Given the description of an element on the screen output the (x, y) to click on. 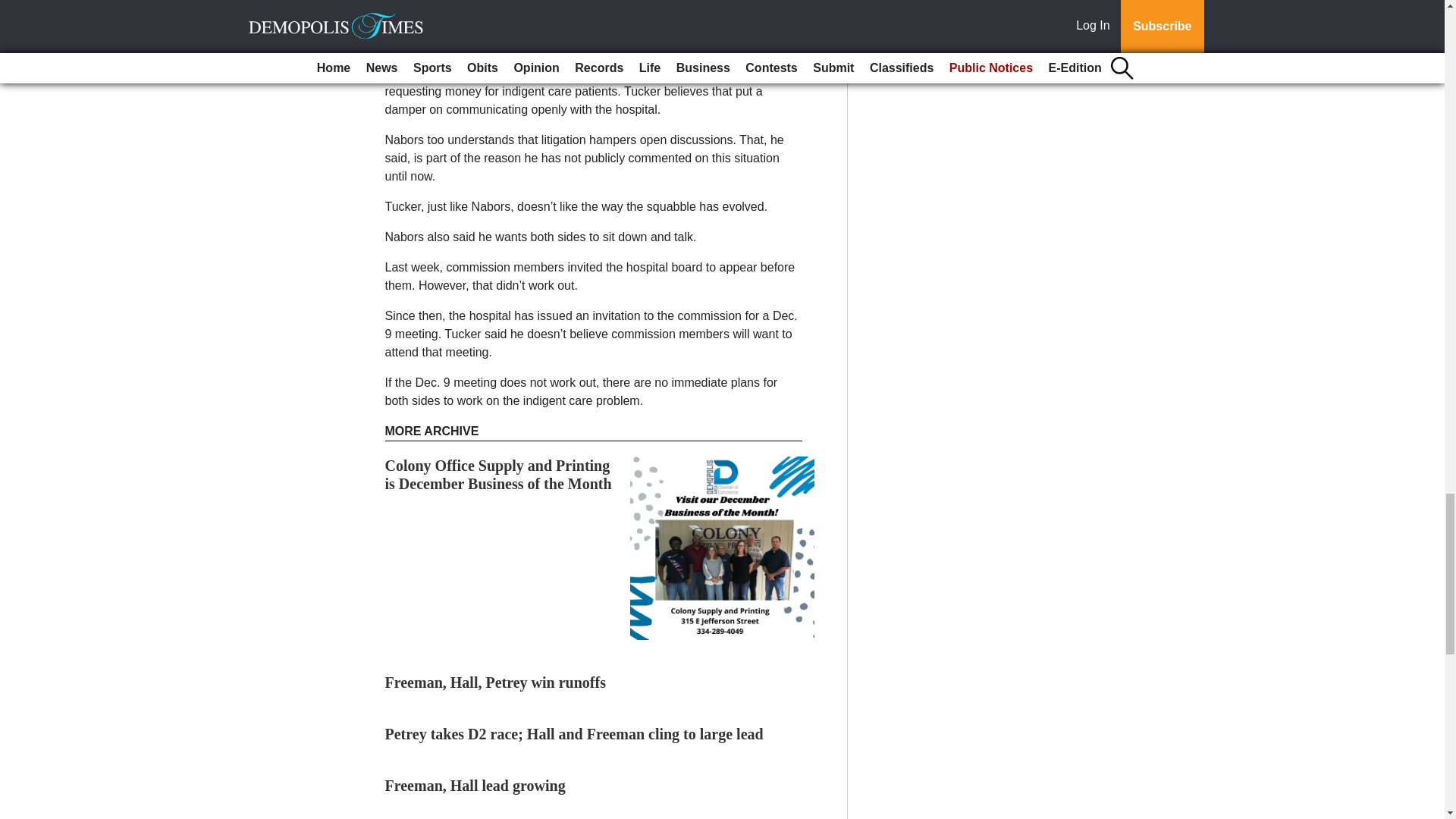
Petrey takes D2 race; Hall and Freeman cling to large lead (573, 733)
Petrey takes D2 race; Hall and Freeman cling to large lead (573, 733)
Freeman, Hall, Petrey win runoffs (495, 682)
Freeman, Hall, Petrey win runoffs (495, 682)
Freeman, Hall lead growing (475, 785)
Freeman, Hall lead growing (475, 785)
